Given the description of an element on the screen output the (x, y) to click on. 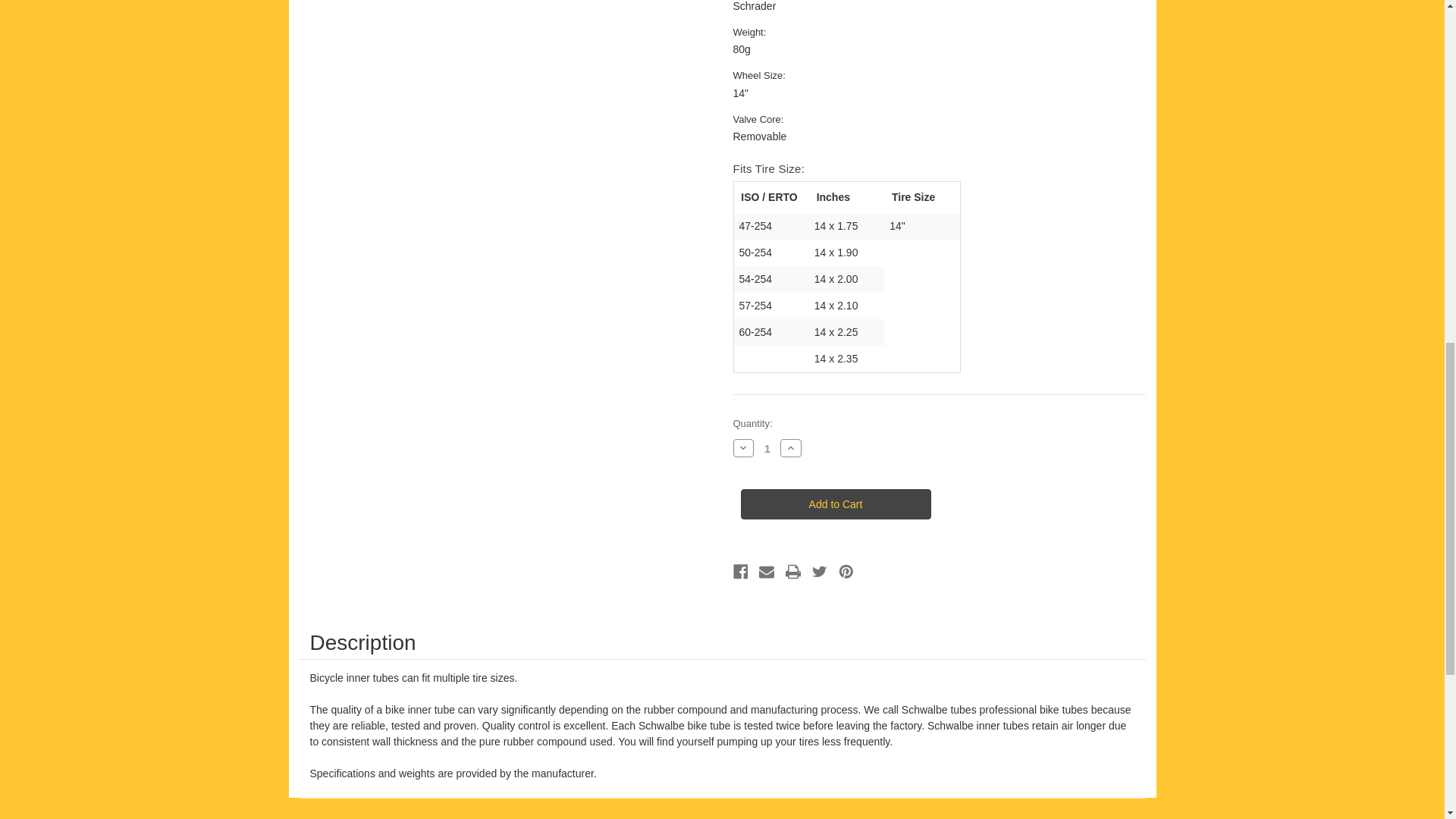
Pinterest (845, 571)
Email (766, 571)
Print (793, 571)
Twitter (819, 571)
Add to Cart (834, 503)
Decrease Quantity of Schwalbe Bike Tube 14" AV2A (743, 447)
Increase Quantity of Schwalbe Bike Tube 14" AV2A (791, 447)
1 (767, 448)
Facebook (740, 571)
Add to Cart (834, 503)
